Given the description of an element on the screen output the (x, y) to click on. 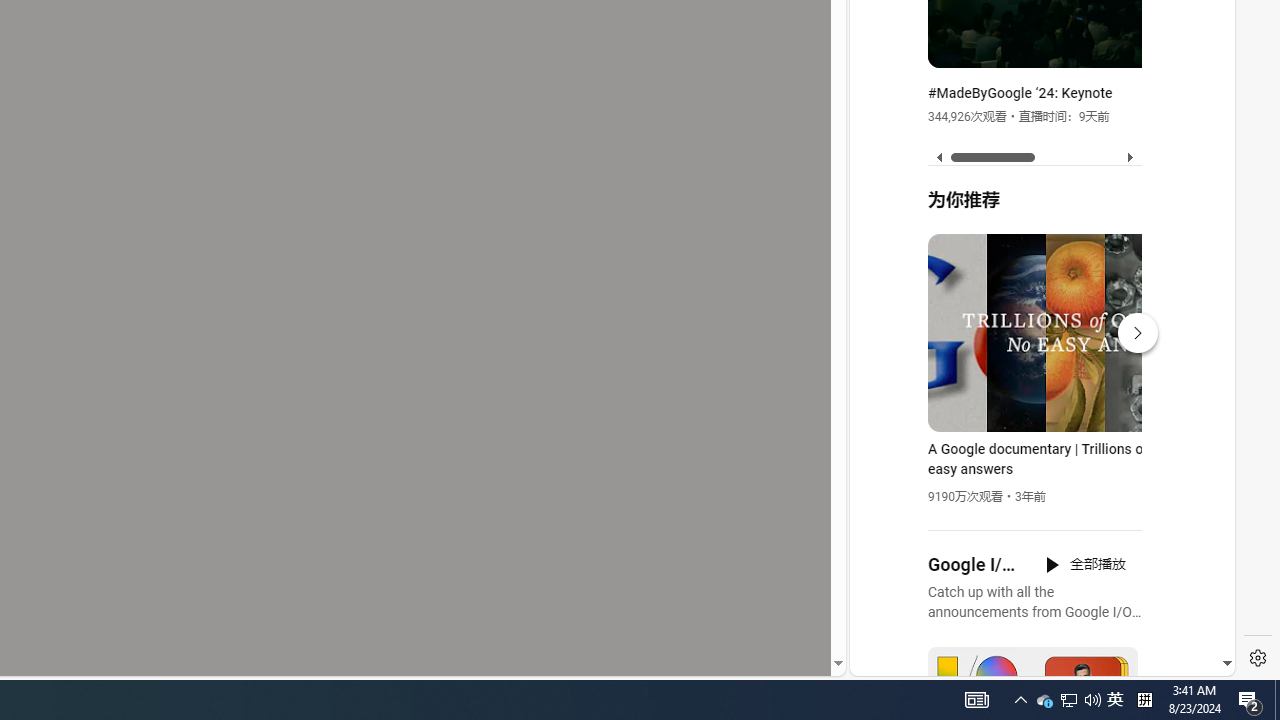
YouTube (1034, 432)
US[ju] (917, 660)
Google I/O 2024 (974, 565)
MadeByGoogle '24: Intro (1166, 49)
